Given the description of an element on the screen output the (x, y) to click on. 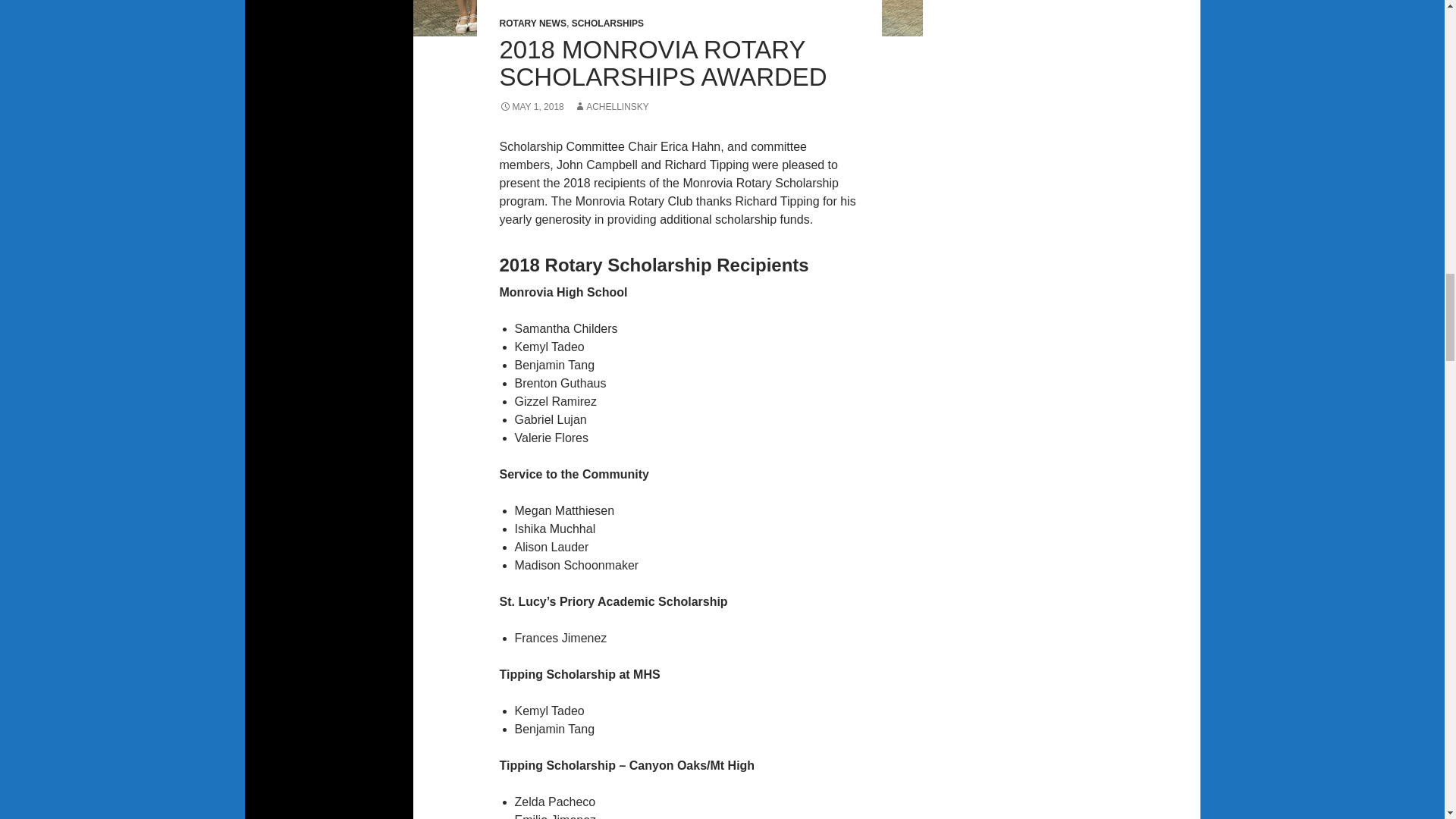
MAY 1, 2018 (531, 106)
SCHOLARSHIPS (607, 23)
ACHELLINSKY (611, 106)
ROTARY NEWS (532, 23)
2018 MONROVIA ROTARY SCHOLARSHIPS AWARDED (663, 63)
